Given the description of an element on the screen output the (x, y) to click on. 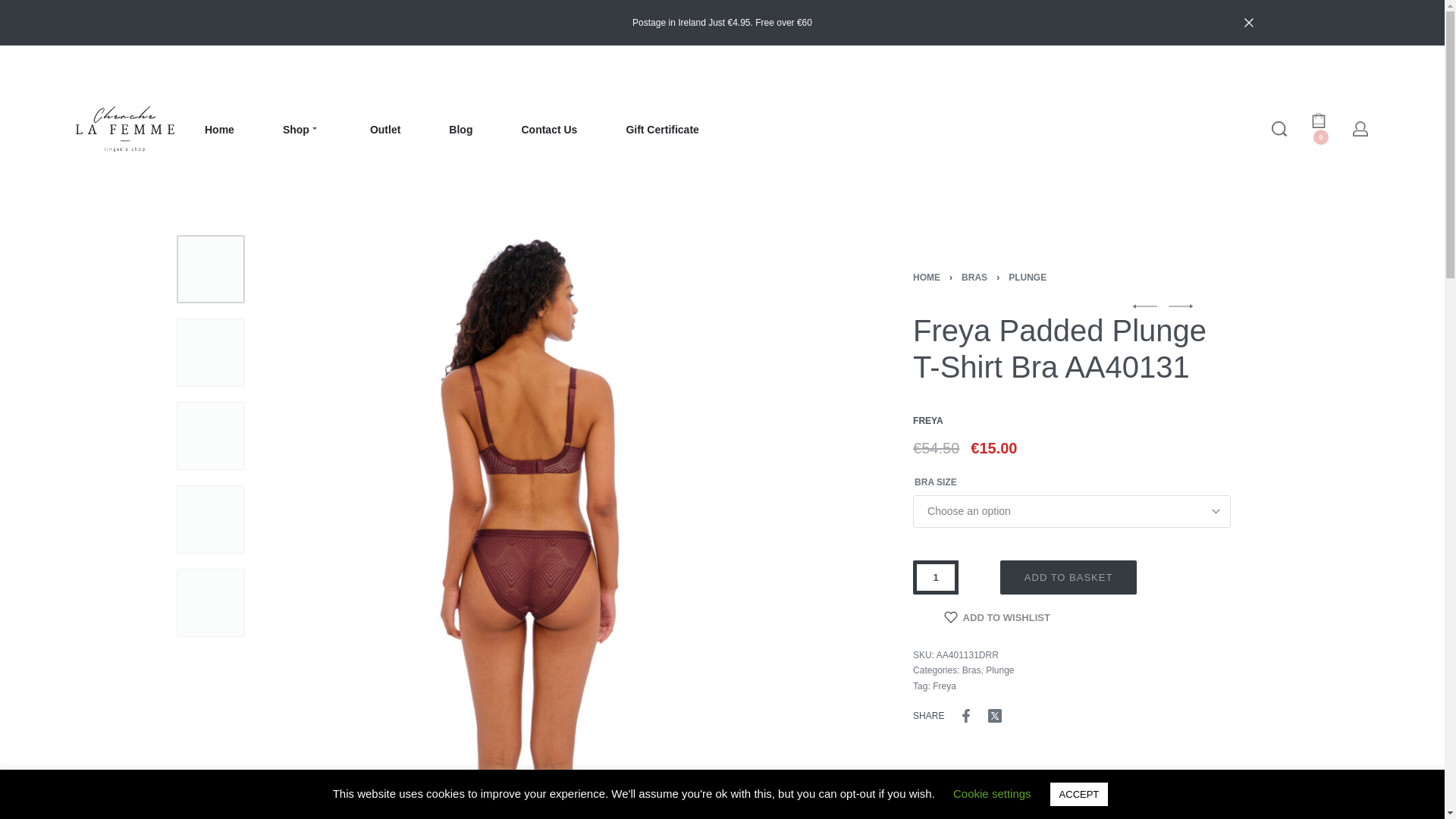
Black Plunge Bra Freya Infinity Fields AA401802 (1144, 306)
1 (935, 577)
Add to wishlist (997, 616)
Home (219, 130)
Padded Lace Plunge Bestform Bra Pampelune 27553 Cassis Red (1179, 306)
Shop (301, 130)
